Given the description of an element on the screen output the (x, y) to click on. 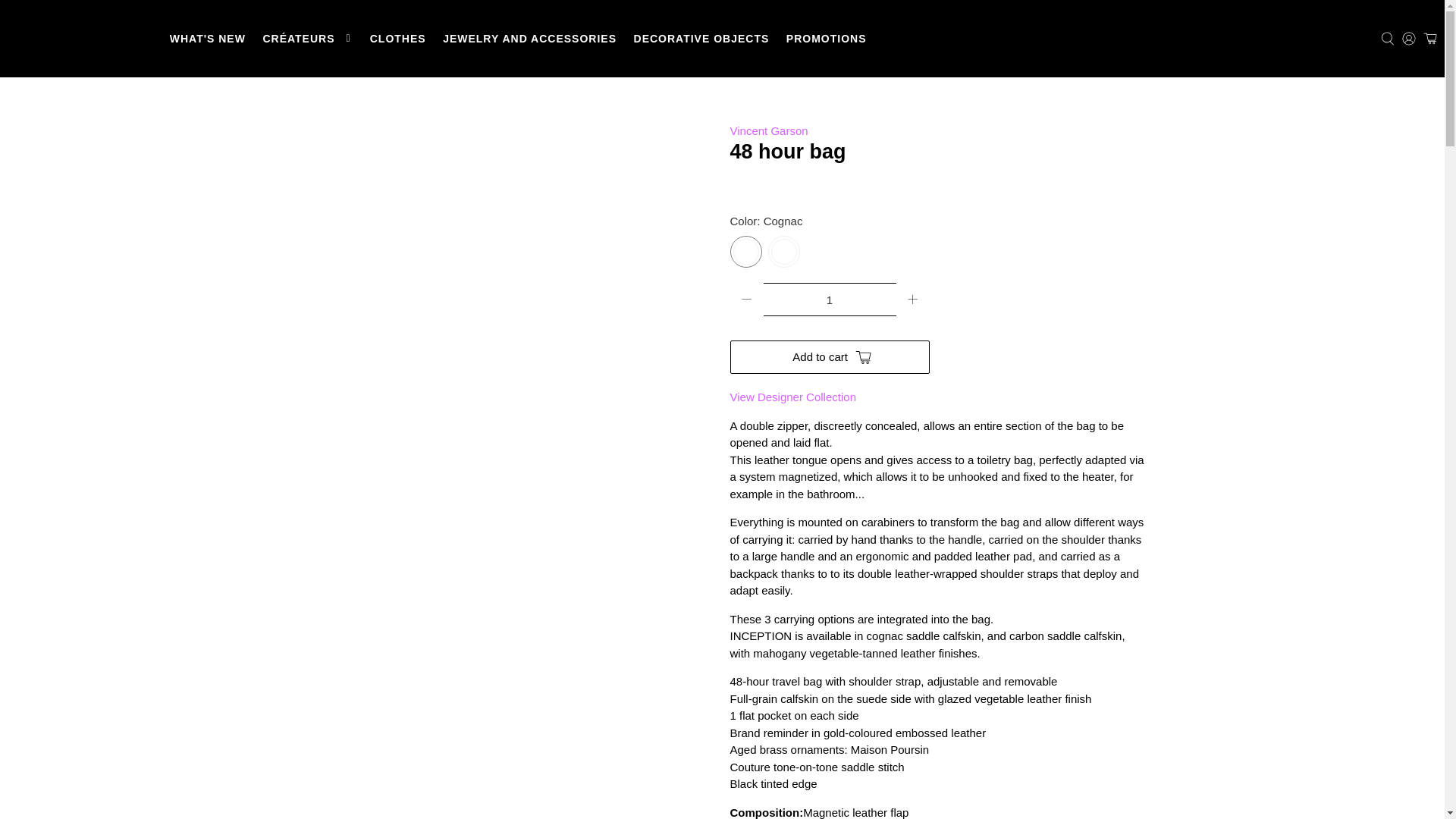
1 (828, 299)
Vincent Garson (768, 130)
WHAT'S NEW (206, 38)
CLOTHES (397, 38)
Vincent Garson Academie Royale (792, 396)
JEWELRY AND ACCESSORIES (528, 38)
PROMOTIONS (826, 38)
DECORATIVE OBJECTS (700, 38)
